Given the description of an element on the screen output the (x, y) to click on. 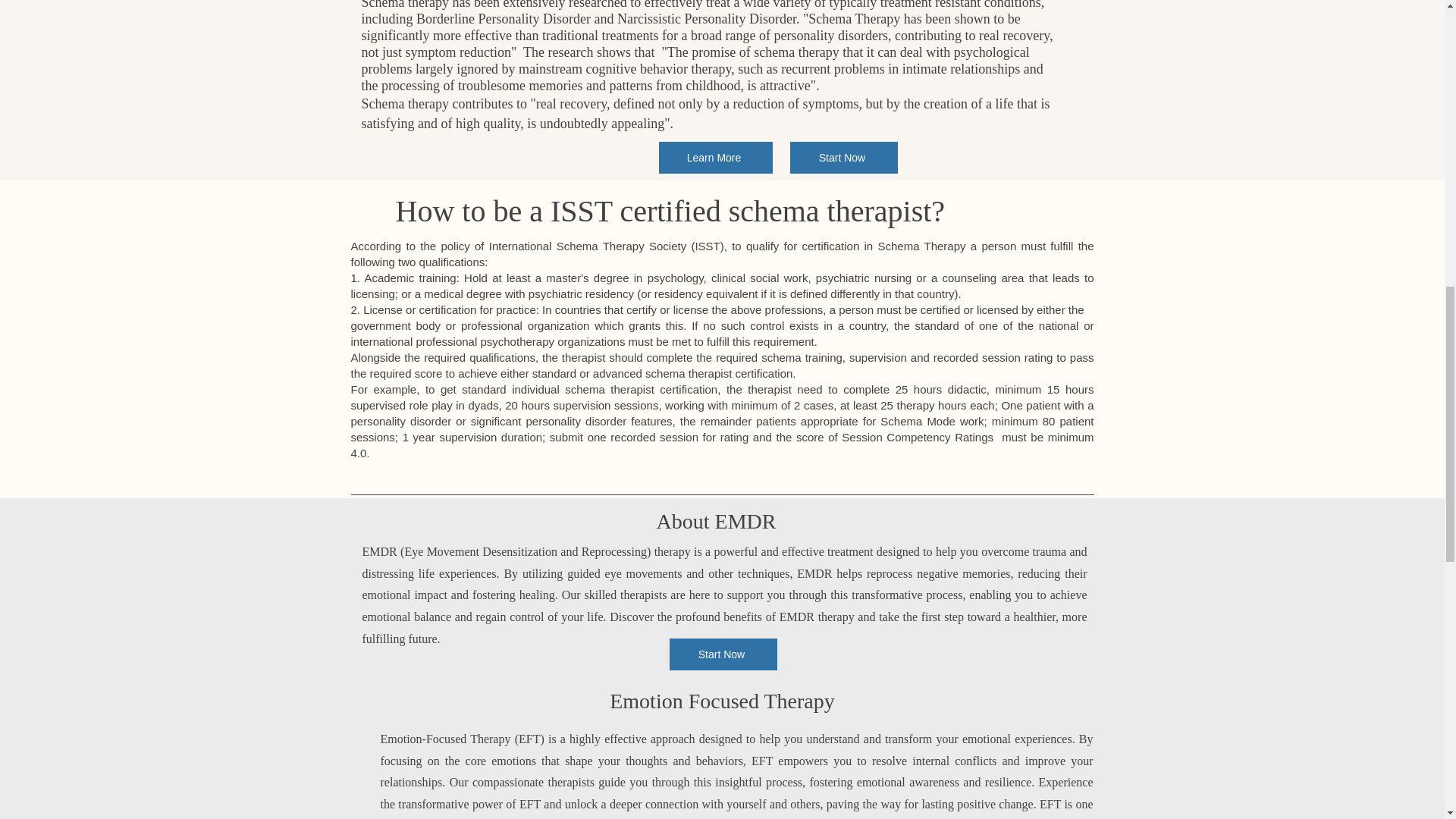
Learn More (714, 157)
Start Now (722, 654)
Start Now (844, 157)
